Given the description of an element on the screen output the (x, y) to click on. 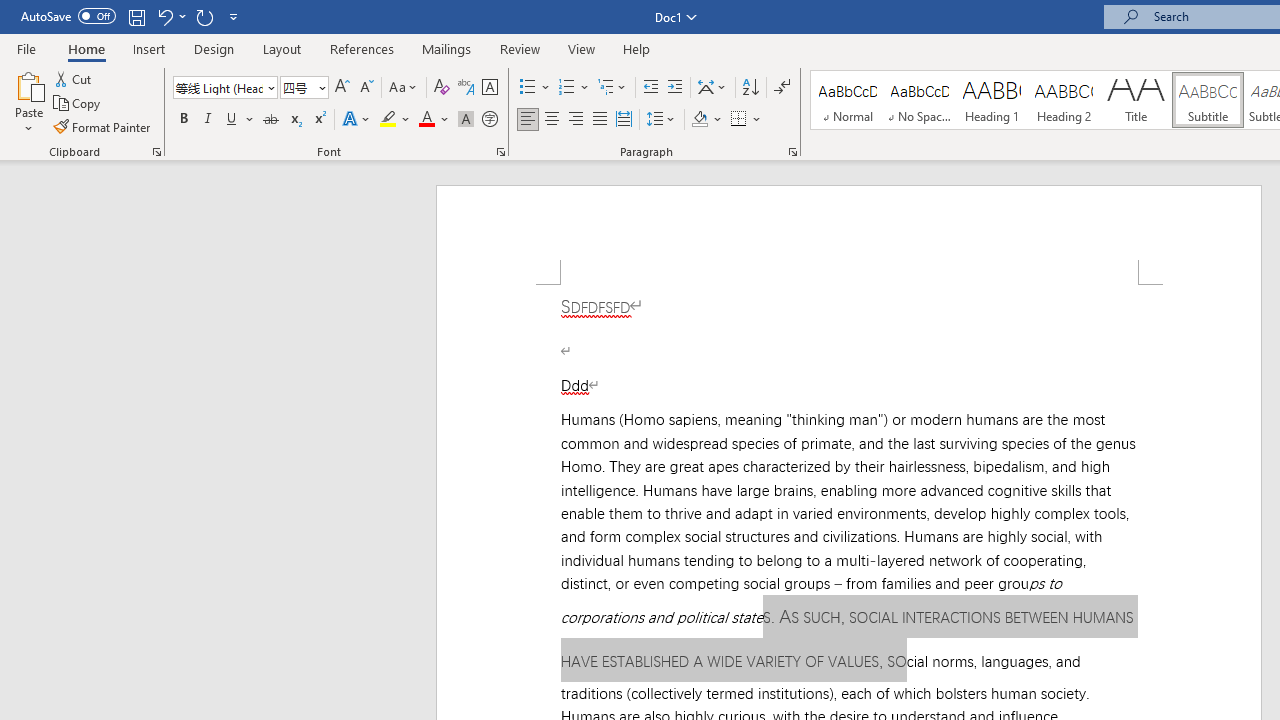
Mailings (447, 48)
Clear Formatting (442, 87)
Format Painter (103, 126)
Layout (282, 48)
Paste (28, 102)
Font Size (297, 87)
Enclose Characters... (489, 119)
Review (520, 48)
Change Case (404, 87)
Bullets (527, 87)
Help (637, 48)
Strikethrough (270, 119)
Copy (78, 103)
Numbering (566, 87)
View (582, 48)
